Given the description of an element on the screen output the (x, y) to click on. 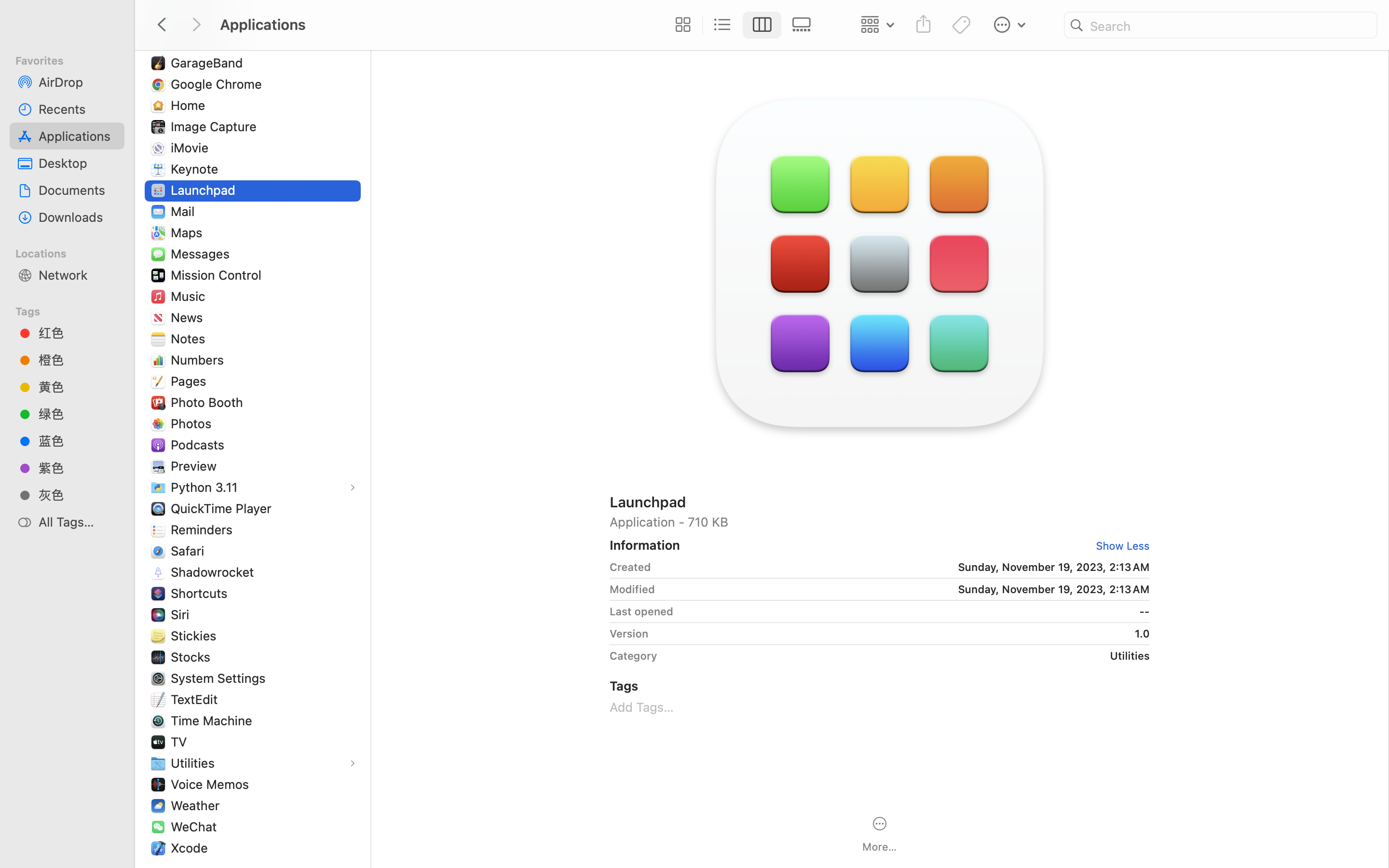
Music Element type: AXTextField (189, 295)
-- Element type: AXStaticText (914, 611)
Preview Element type: AXTextField (195, 465)
Created Element type: AXStaticText (630, 566)
Tags… Element type: AXStaticText (20, 860)
